Given the description of an element on the screen output the (x, y) to click on. 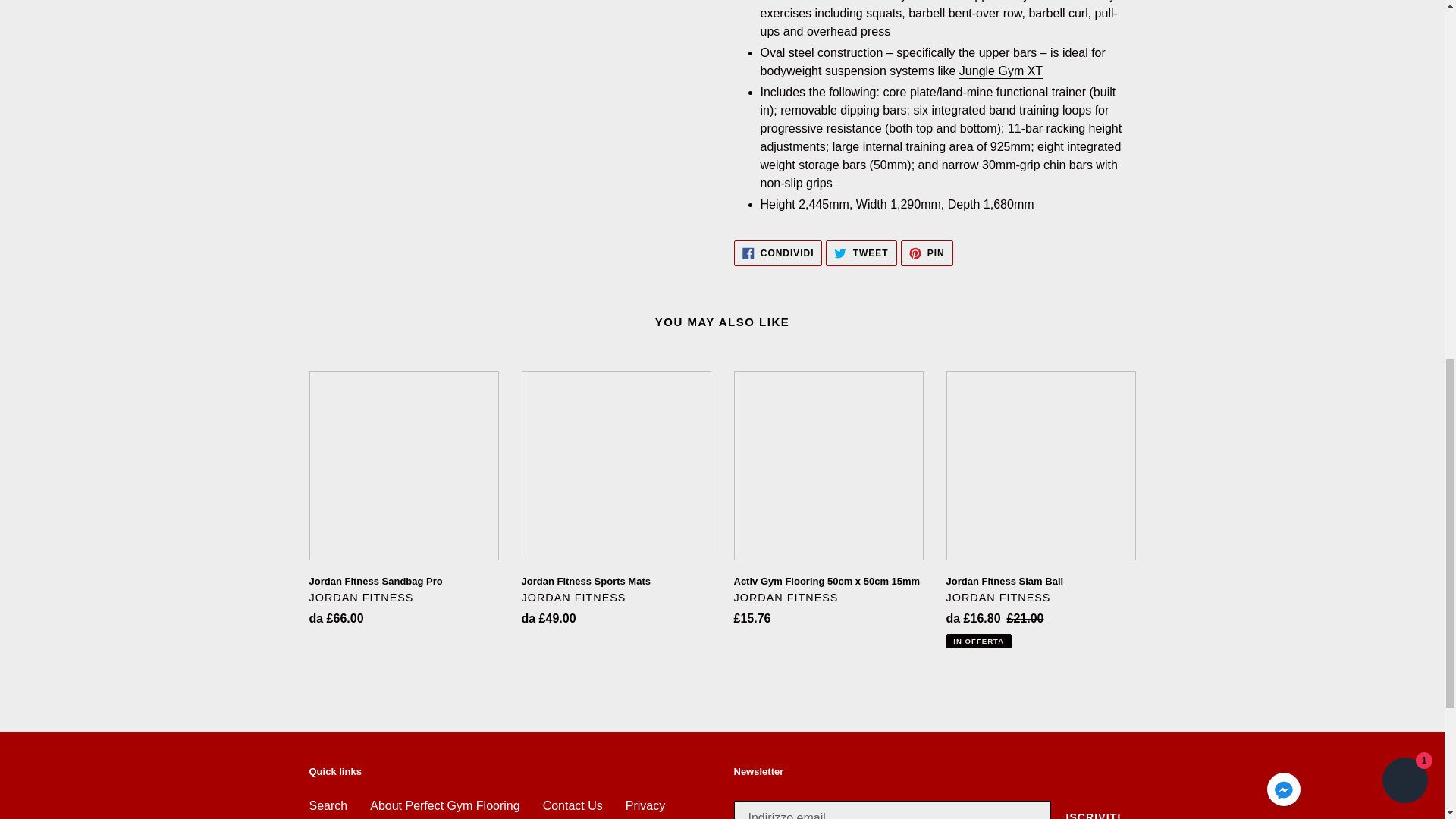
Jungle Gym Bodyweight (1000, 71)
